Given the description of an element on the screen output the (x, y) to click on. 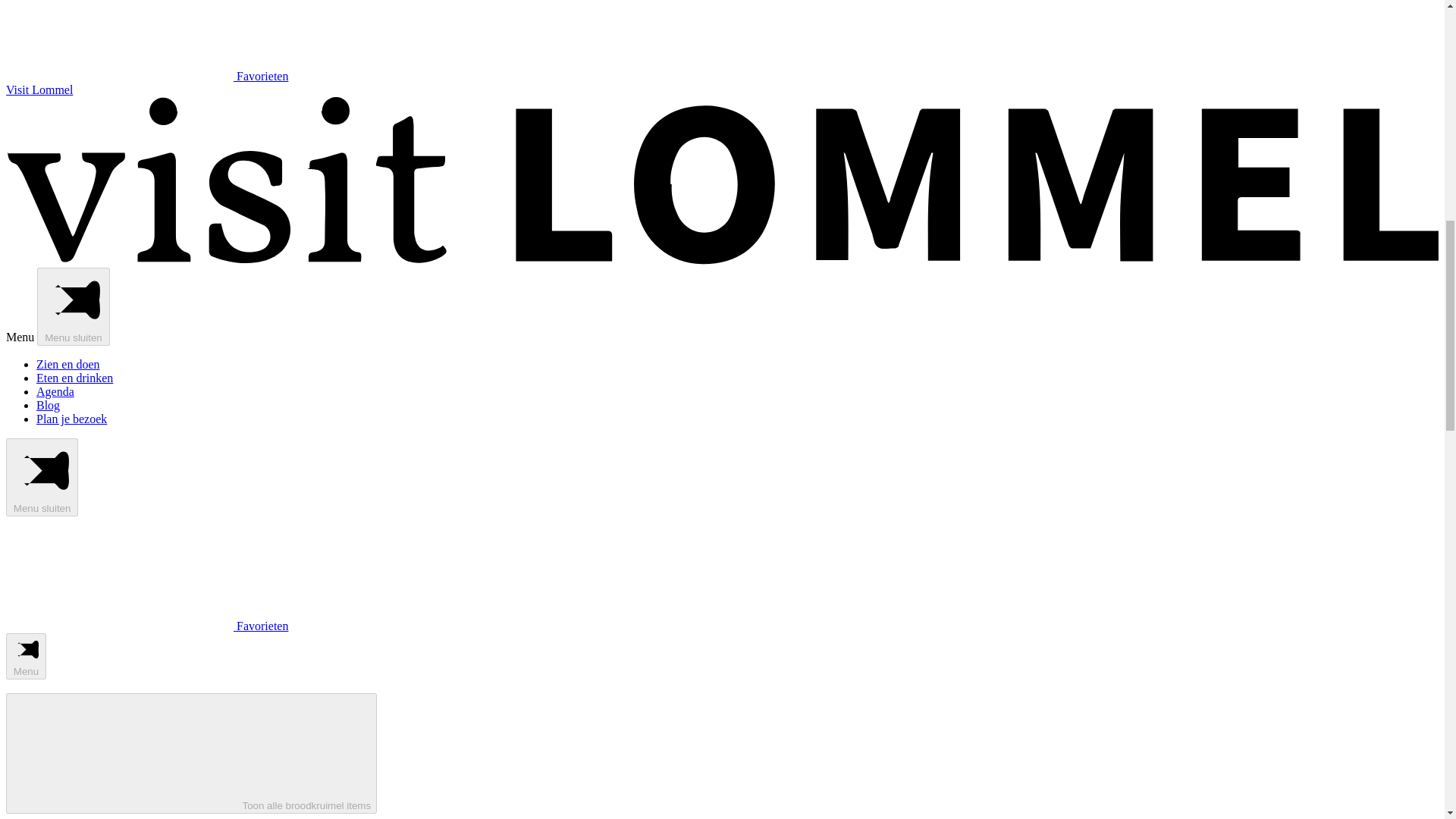
Eten en drinken (74, 377)
Blog (47, 404)
Menu sluiten (73, 306)
Plan je bezoek (71, 418)
Favorieten (146, 625)
Favorieten (146, 75)
Toon alle broodkruimel items (191, 753)
Menu sluiten (41, 477)
Zien en doen (68, 364)
Agenda (55, 391)
